Given the description of an element on the screen output the (x, y) to click on. 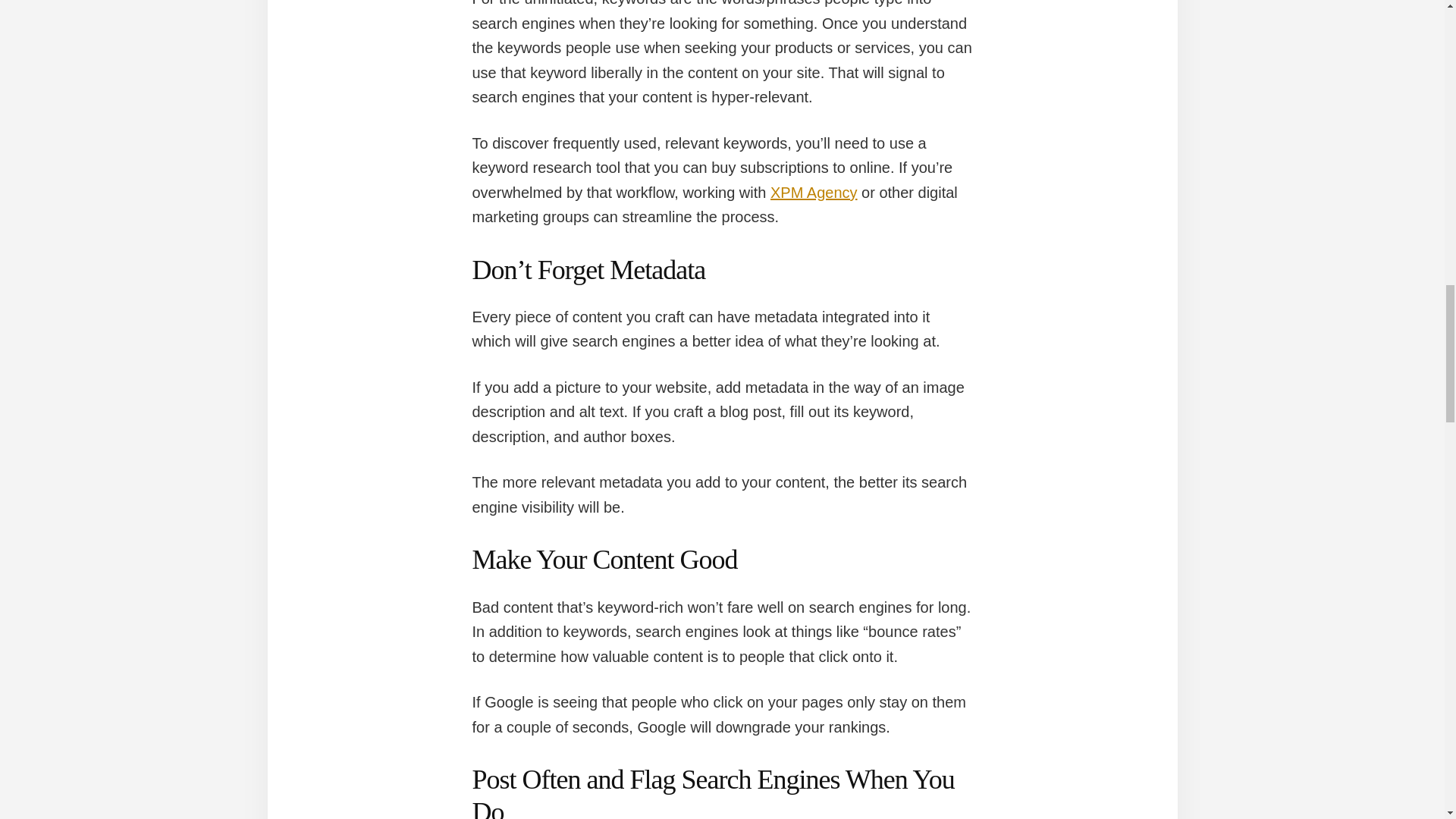
XPM Agency (813, 192)
